Given the description of an element on the screen output the (x, y) to click on. 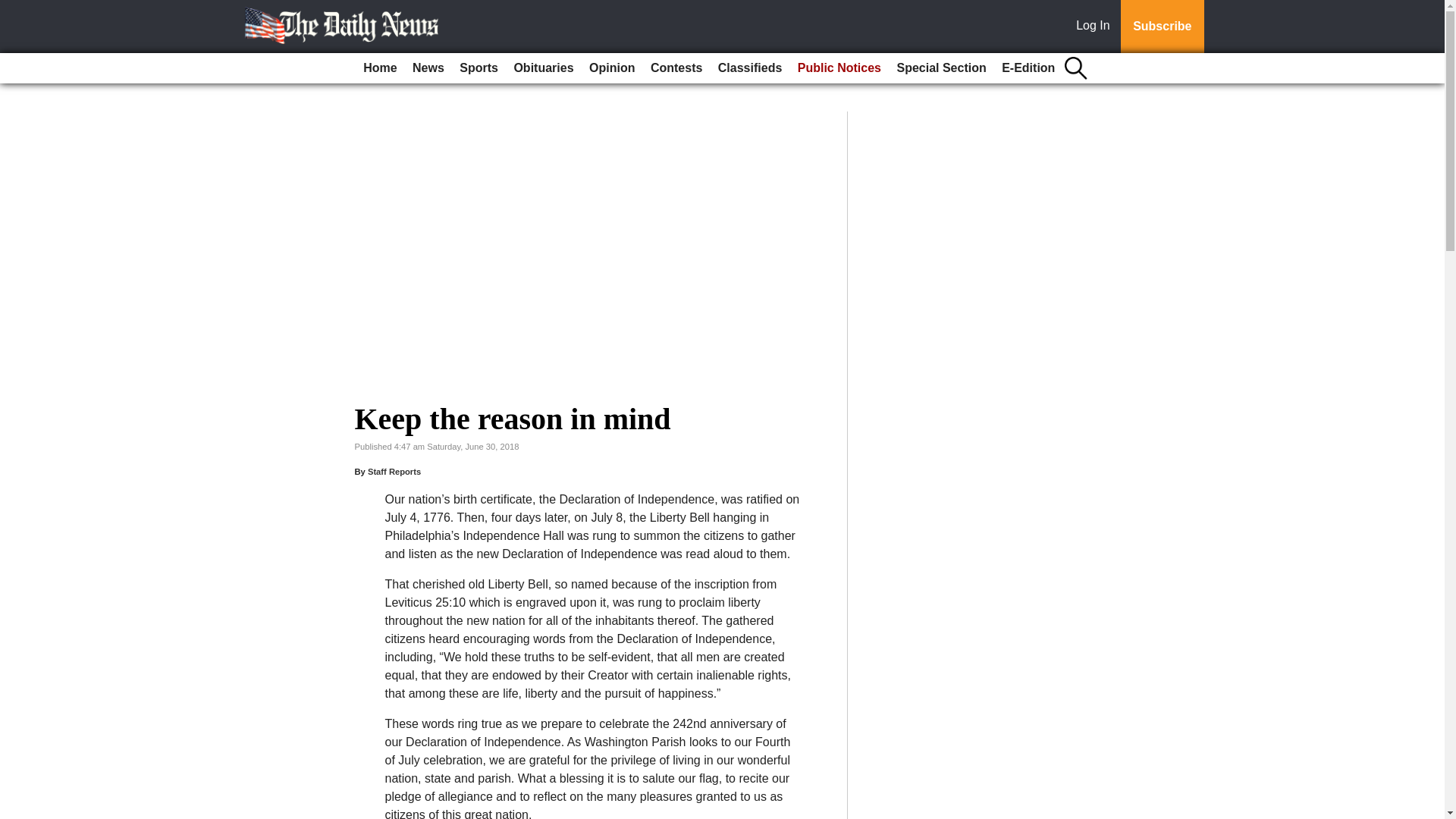
Public Notices (839, 68)
Log In (1095, 26)
Subscribe (1162, 26)
Obituaries (542, 68)
Sports (477, 68)
Opinion (611, 68)
Classifieds (749, 68)
Home (379, 68)
News (427, 68)
Special Section (940, 68)
E-Edition (1028, 68)
Contests (676, 68)
Go (13, 9)
Staff Reports (394, 470)
